Given the description of an element on the screen output the (x, y) to click on. 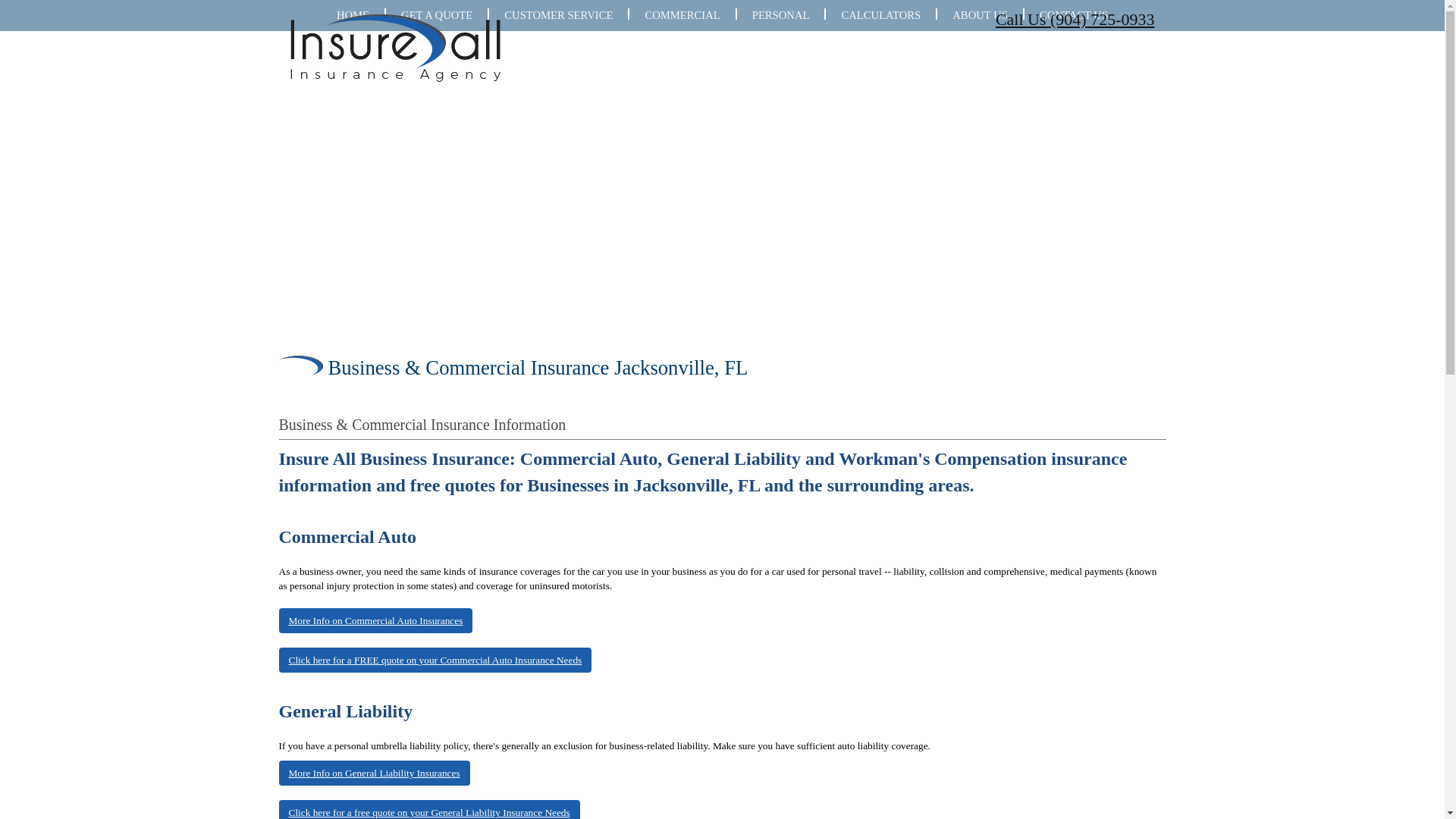
PERSONAL (780, 15)
HOME (352, 15)
COMMERCIAL (681, 15)
CUSTOMER SERVICE (558, 15)
GET A QUOTE (436, 15)
